Given the description of an element on the screen output the (x, y) to click on. 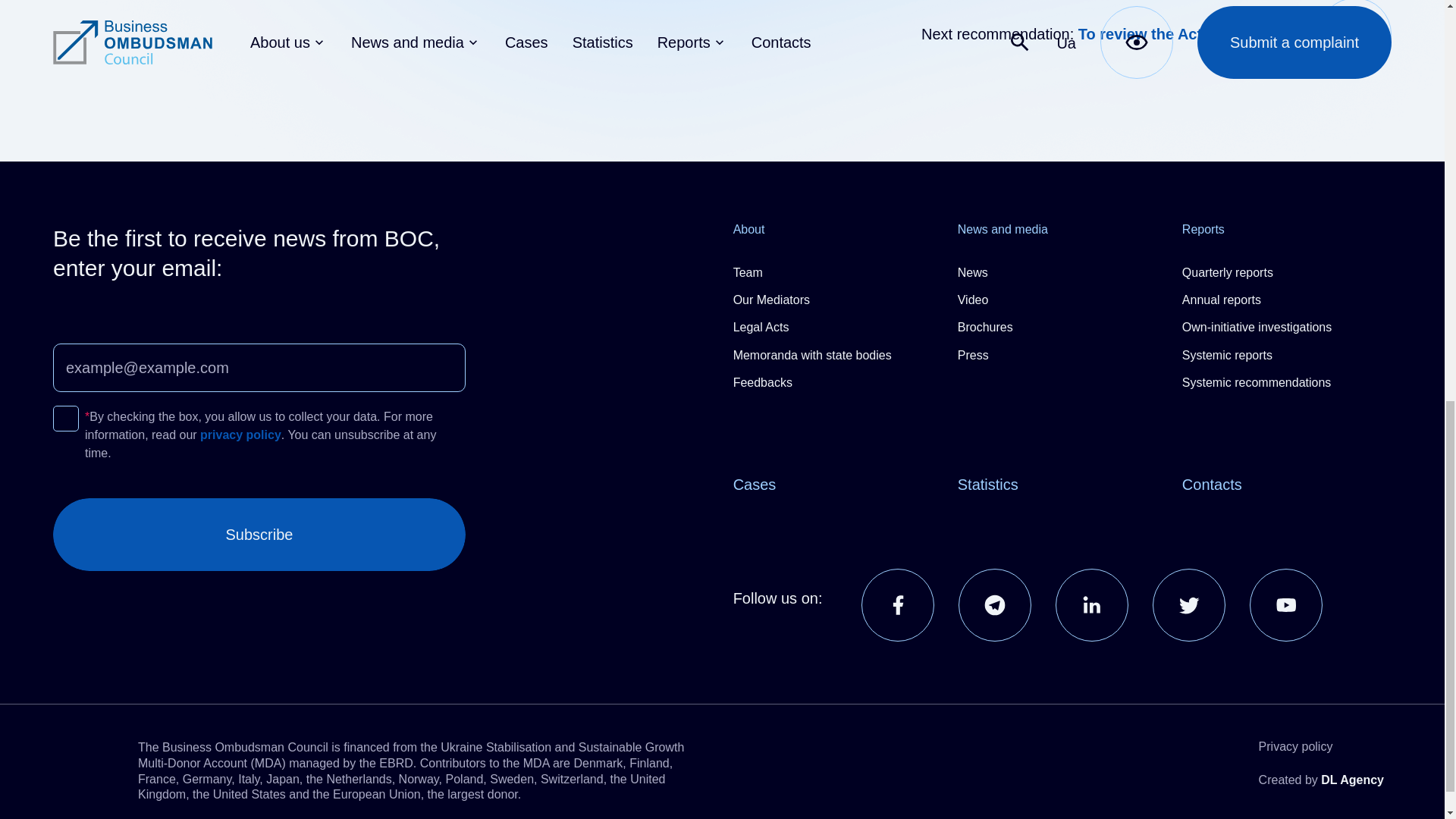
Subscribe (258, 533)
